Given the description of an element on the screen output the (x, y) to click on. 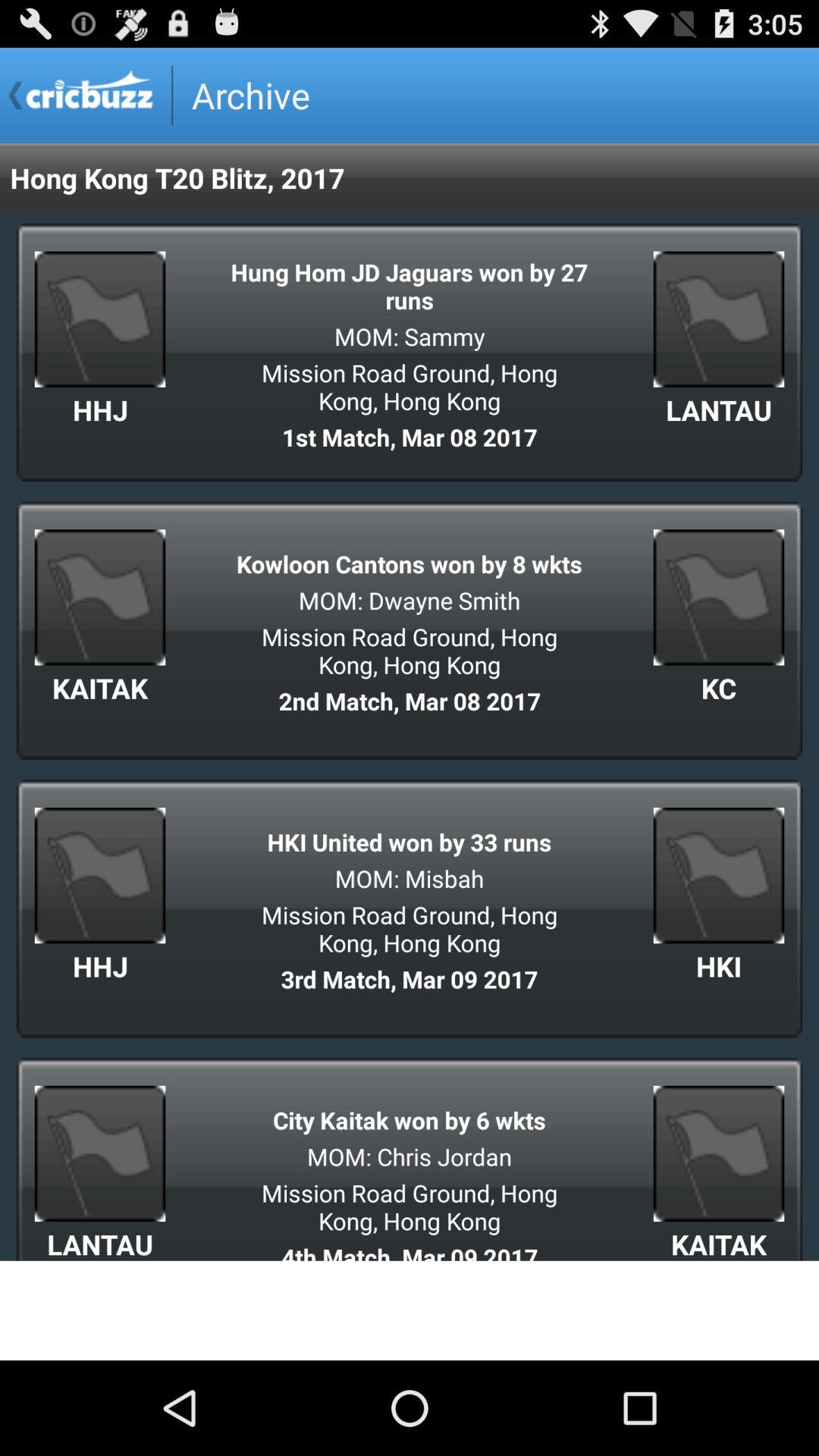
scroll to the kowloon cantons won item (409, 563)
